Given the description of an element on the screen output the (x, y) to click on. 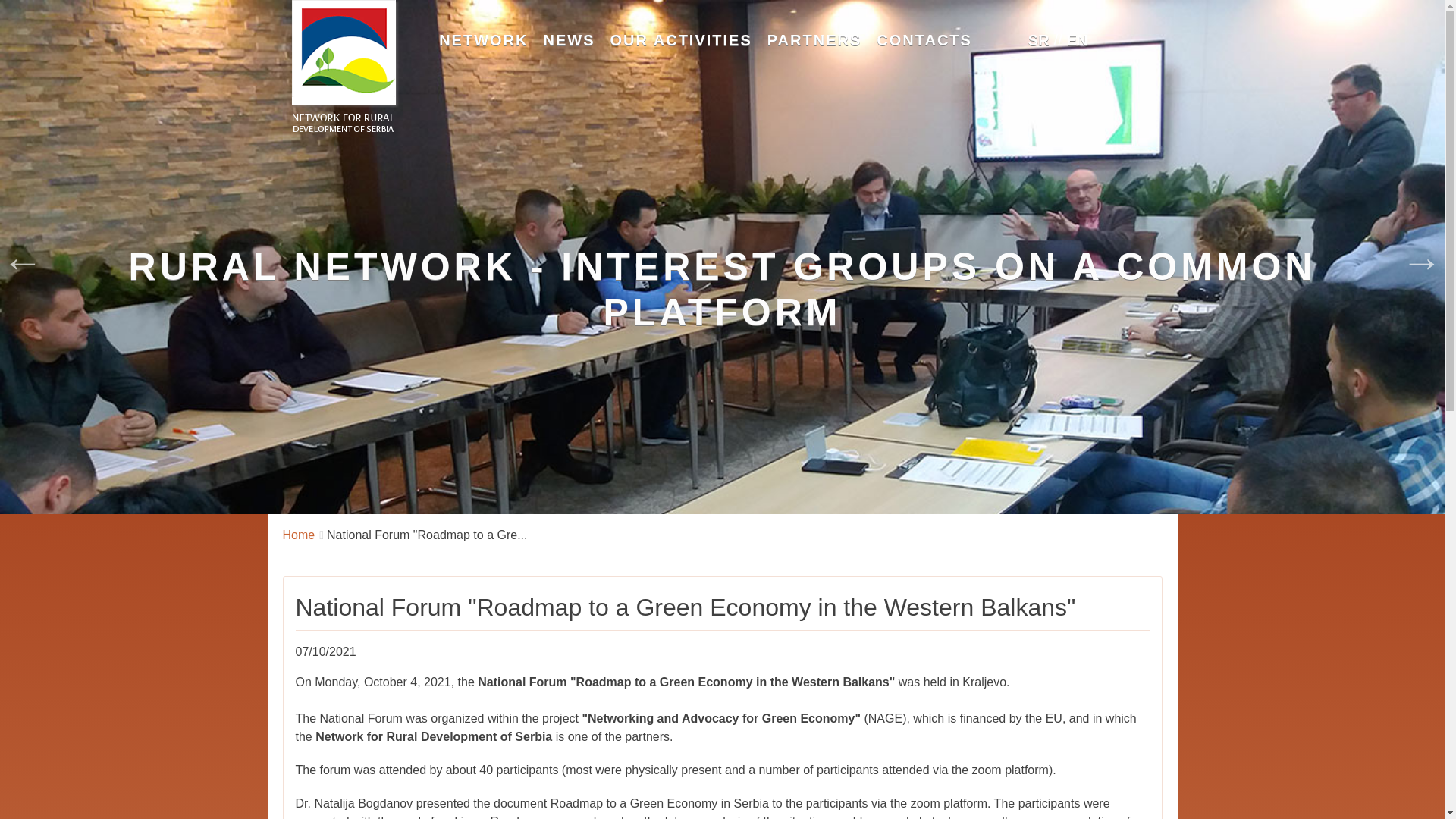
NEWS (568, 39)
NETWORK (482, 39)
PARTNERS (814, 39)
EN (1077, 39)
Home (343, 66)
Previous (22, 256)
Home (298, 534)
OUR ACTIVITIES (680, 39)
SR (1038, 39)
CONTACTS (924, 39)
